Given the description of an element on the screen output the (x, y) to click on. 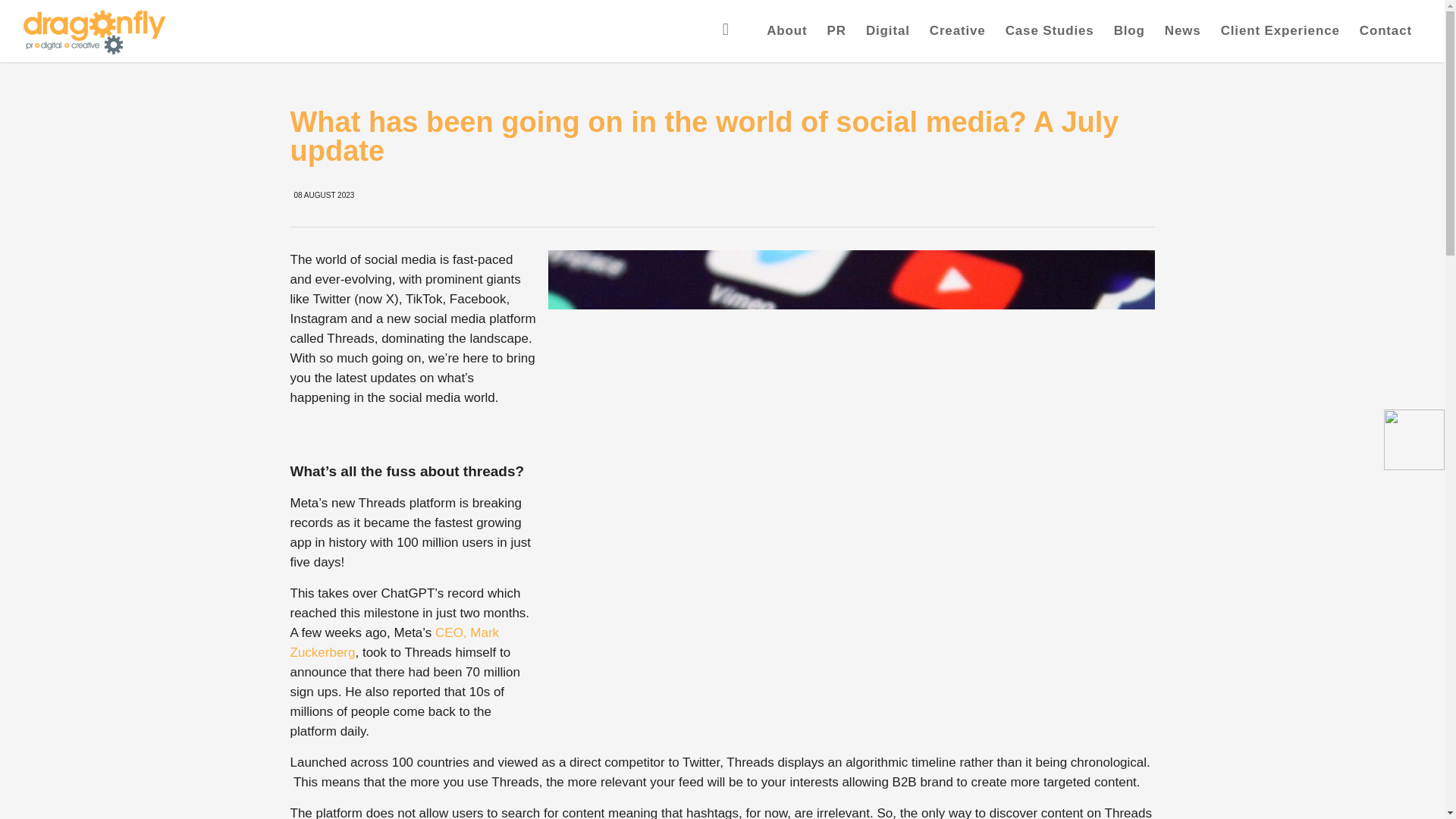
News (1182, 31)
Case Studies (1049, 31)
About (786, 31)
CEO, Mark Zuckerberg (394, 642)
Digital (888, 31)
Client Experience (1280, 31)
Contact (1385, 31)
Creative (957, 31)
